Given the description of an element on the screen output the (x, y) to click on. 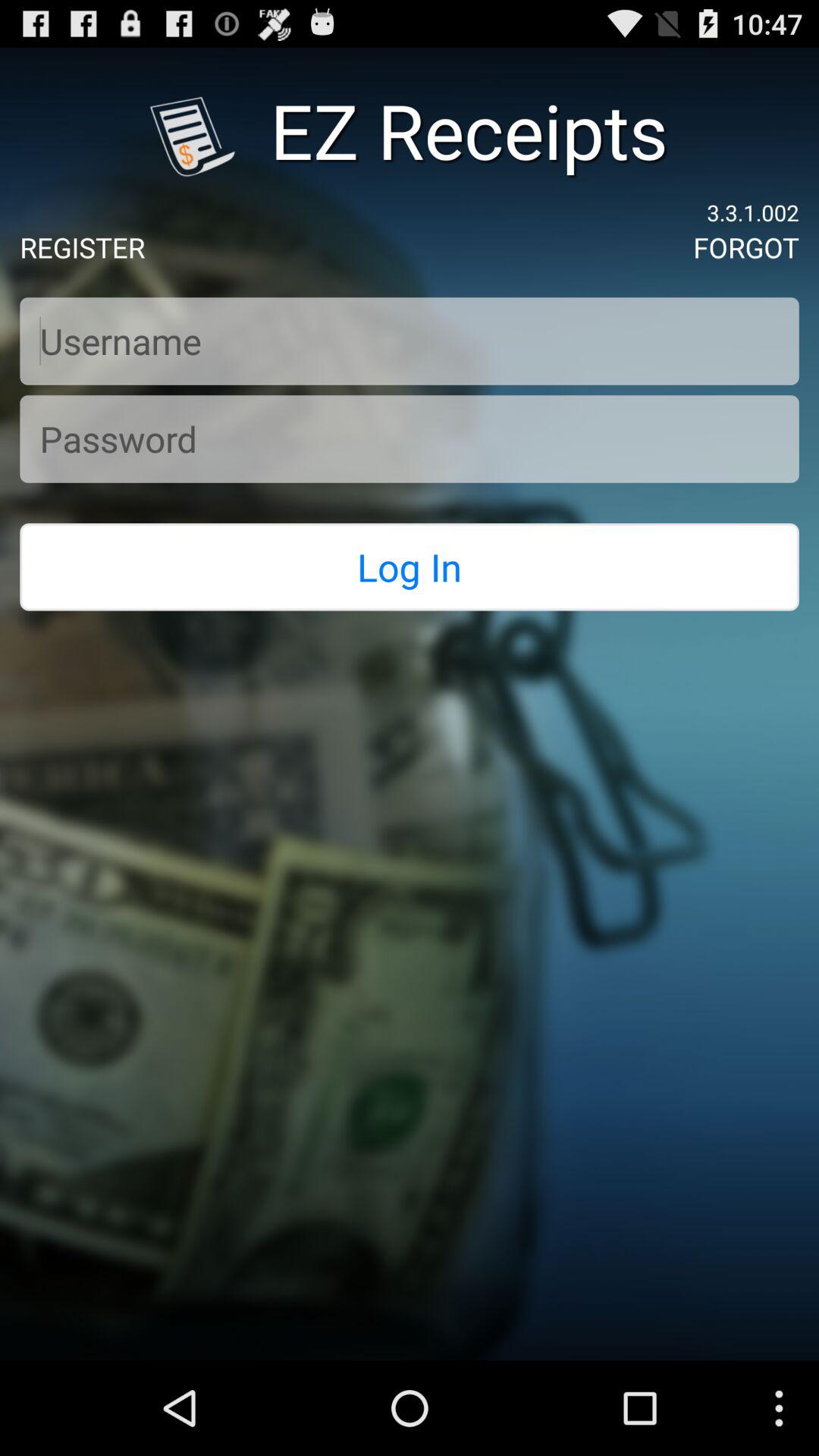
enter password (409, 438)
